Given the description of an element on the screen output the (x, y) to click on. 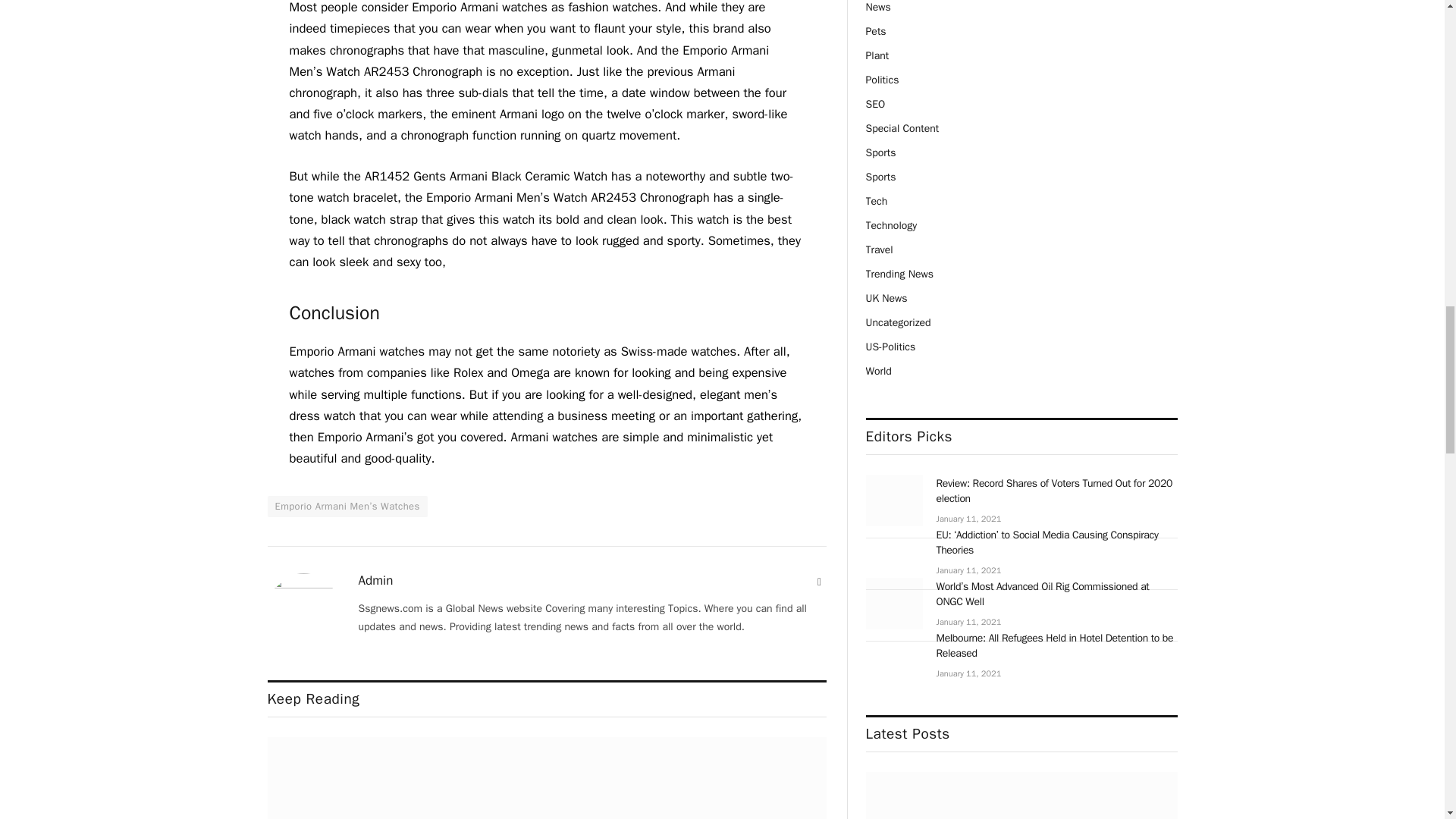
Website (818, 581)
Jeansato: A Simple Definition Which You Must Listen To (359, 778)
Posts by Admin (375, 580)
